Given the description of an element on the screen output the (x, y) to click on. 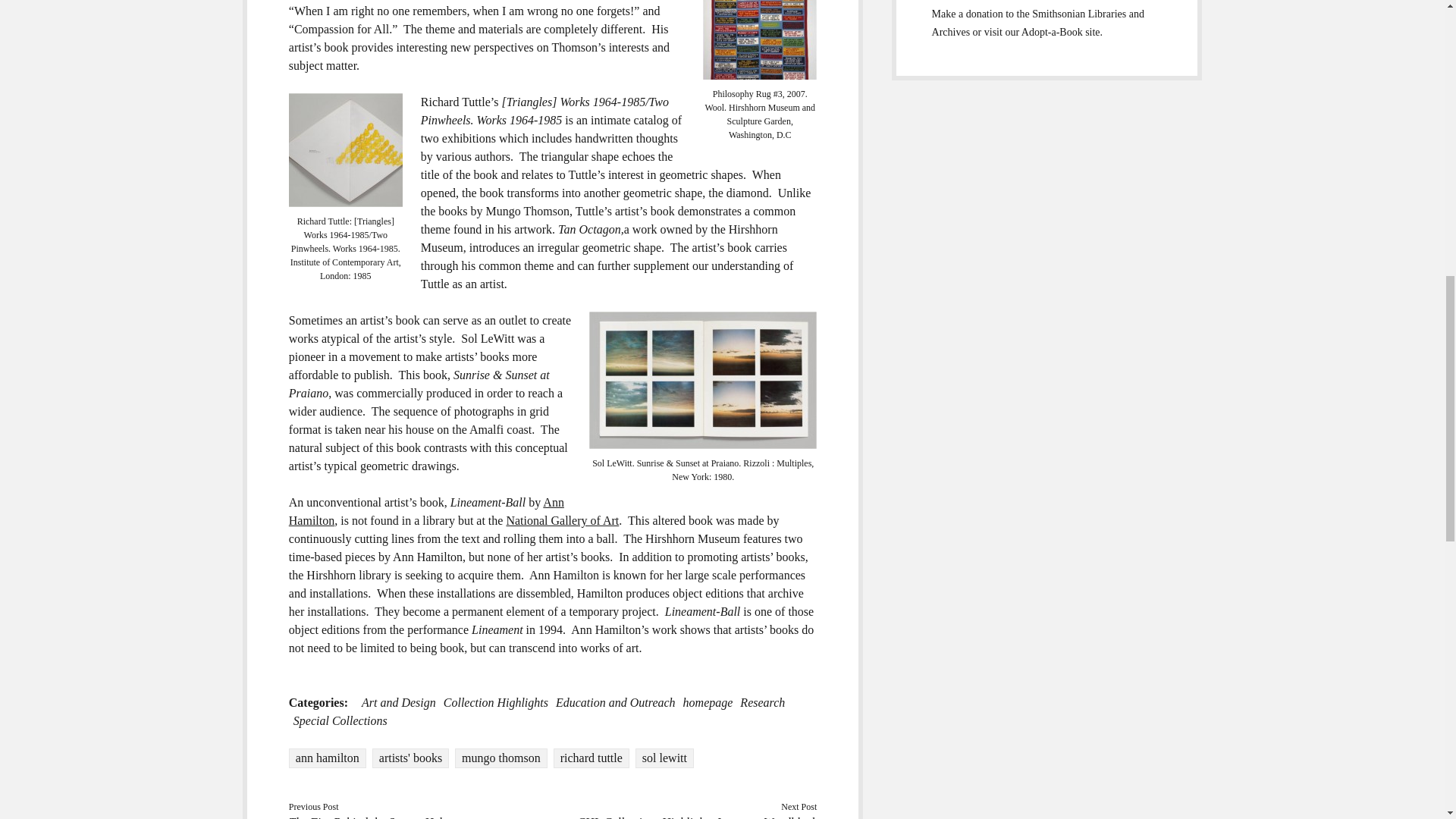
View all posts in Special Collections (340, 720)
View all posts tagged ann hamilton (327, 758)
homepage (707, 702)
ann hamilton (327, 758)
View all posts in homepage (707, 702)
Art and Design (398, 702)
artists' books (410, 758)
View all posts in Research (761, 702)
mungo thomson (500, 758)
Collection Highlights (496, 702)
View all posts in Education and Outreach (615, 702)
sol lewitt (664, 758)
View all posts in Collection Highlights (496, 702)
View all posts tagged artists' books (410, 758)
The Fix: Behind the Scenes Help (368, 817)
